Given the description of an element on the screen output the (x, y) to click on. 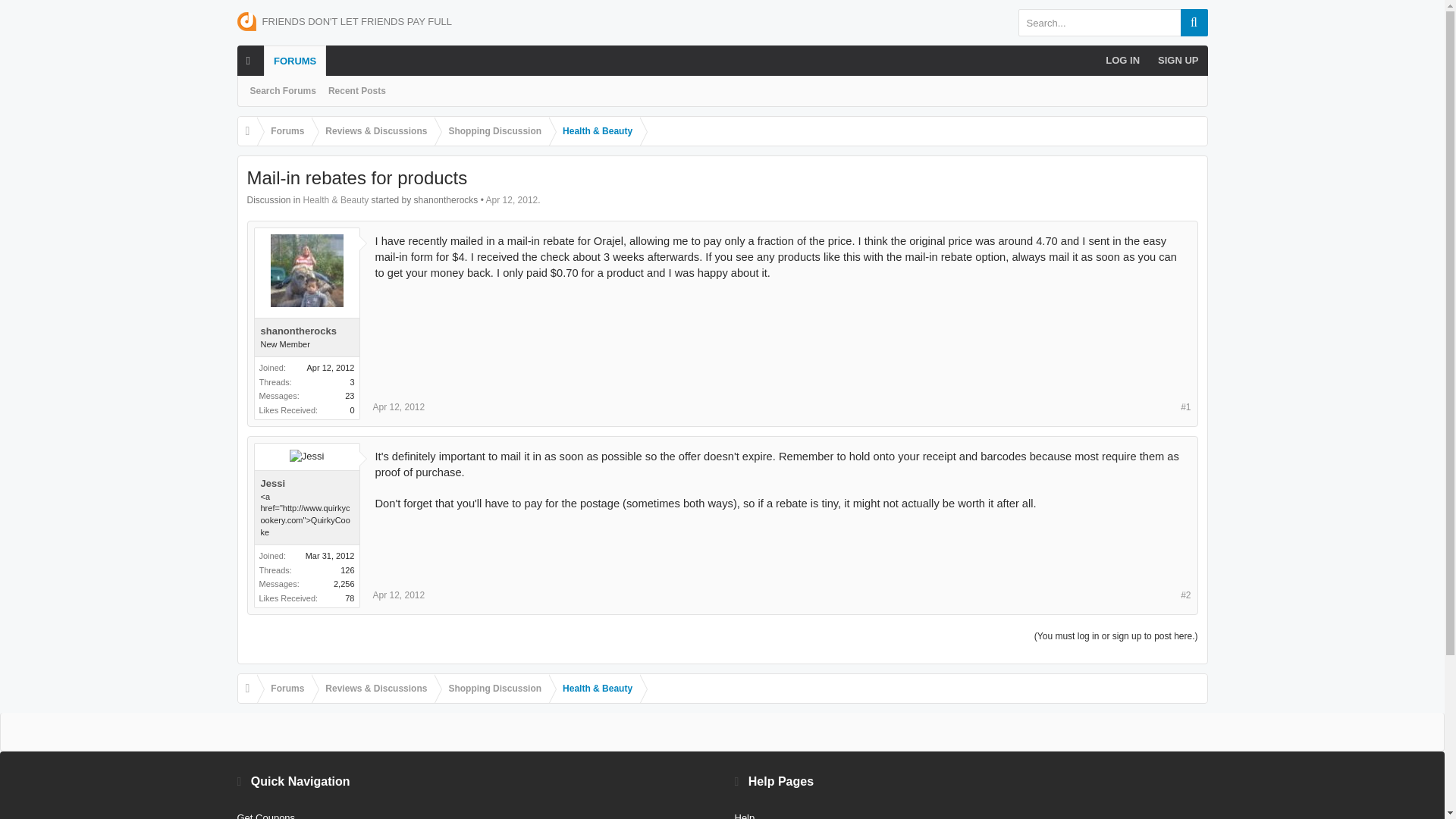
Forums (284, 131)
Permalink (398, 594)
Recent Posts (356, 91)
Apr 12, 2012 (512, 199)
Apr 12, 2012 (398, 594)
Enter your search and hit enter (1112, 22)
Apr 12, 2012 (398, 407)
FORUMS (294, 60)
Permalink (398, 407)
Apr 12, 2012 at 04:13 (512, 199)
Search Forums (282, 91)
FRIENDS DON'T LET FRIENDS PAY FULL (343, 20)
Shopping Discussion (490, 131)
LOG IN (1122, 60)
SIGN UP (1177, 60)
